Given the description of an element on the screen output the (x, y) to click on. 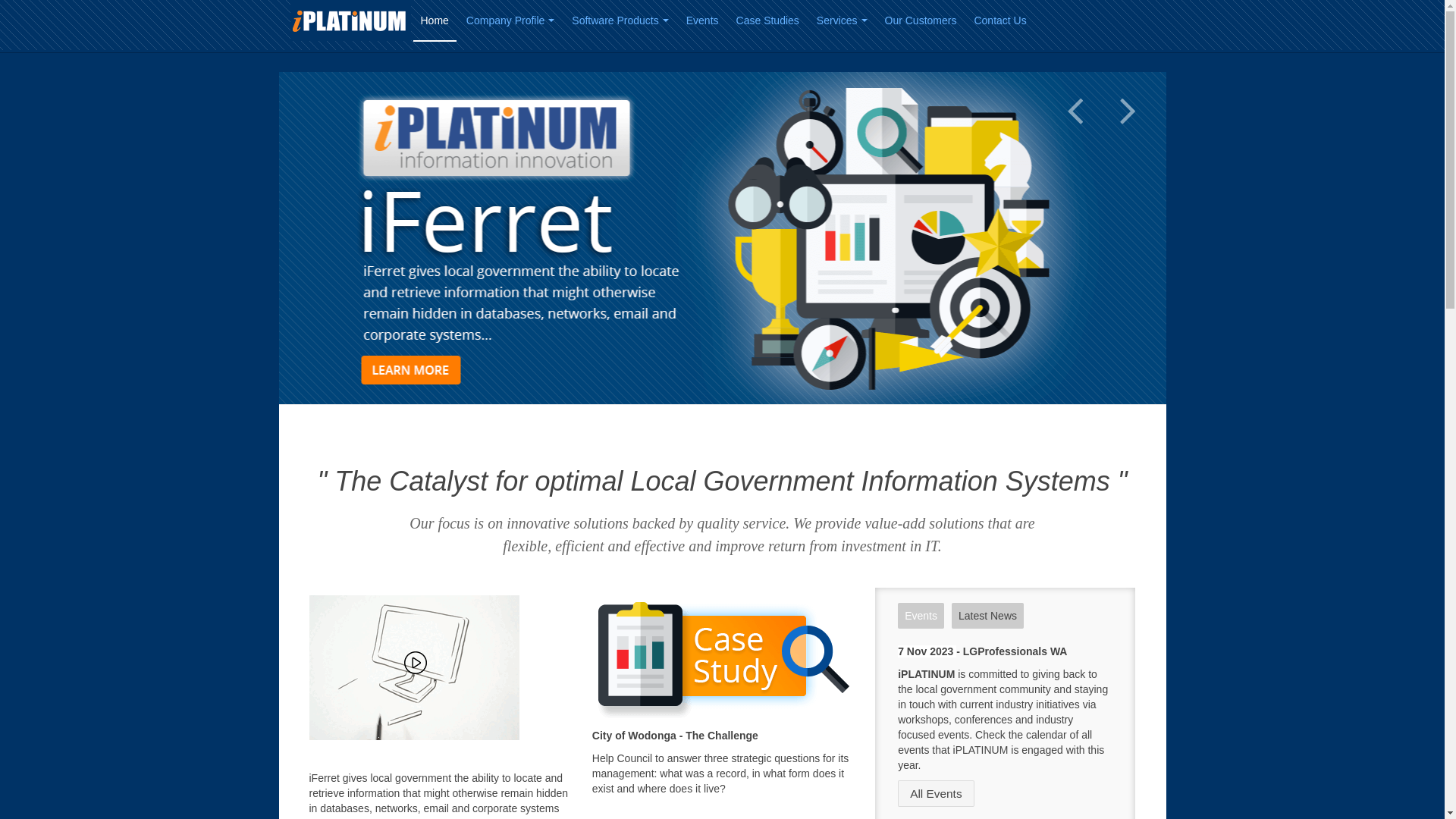
All Events Element type: text (935, 793)
Company Profile Element type: text (510, 20)
iPlatinum Element type: hover (349, 20)
  Element type: text (721, 238)
Latest News Element type: text (987, 615)
Contact Us Element type: text (999, 20)
Software Products Element type: text (619, 20)
Services Element type: text (842, 20)
Case Studies Element type: text (767, 20)
Home Element type: text (433, 20)
Our Customers Element type: text (920, 20)
Events Element type: text (702, 20)
Events Element type: text (920, 615)
